Given the description of an element on the screen output the (x, y) to click on. 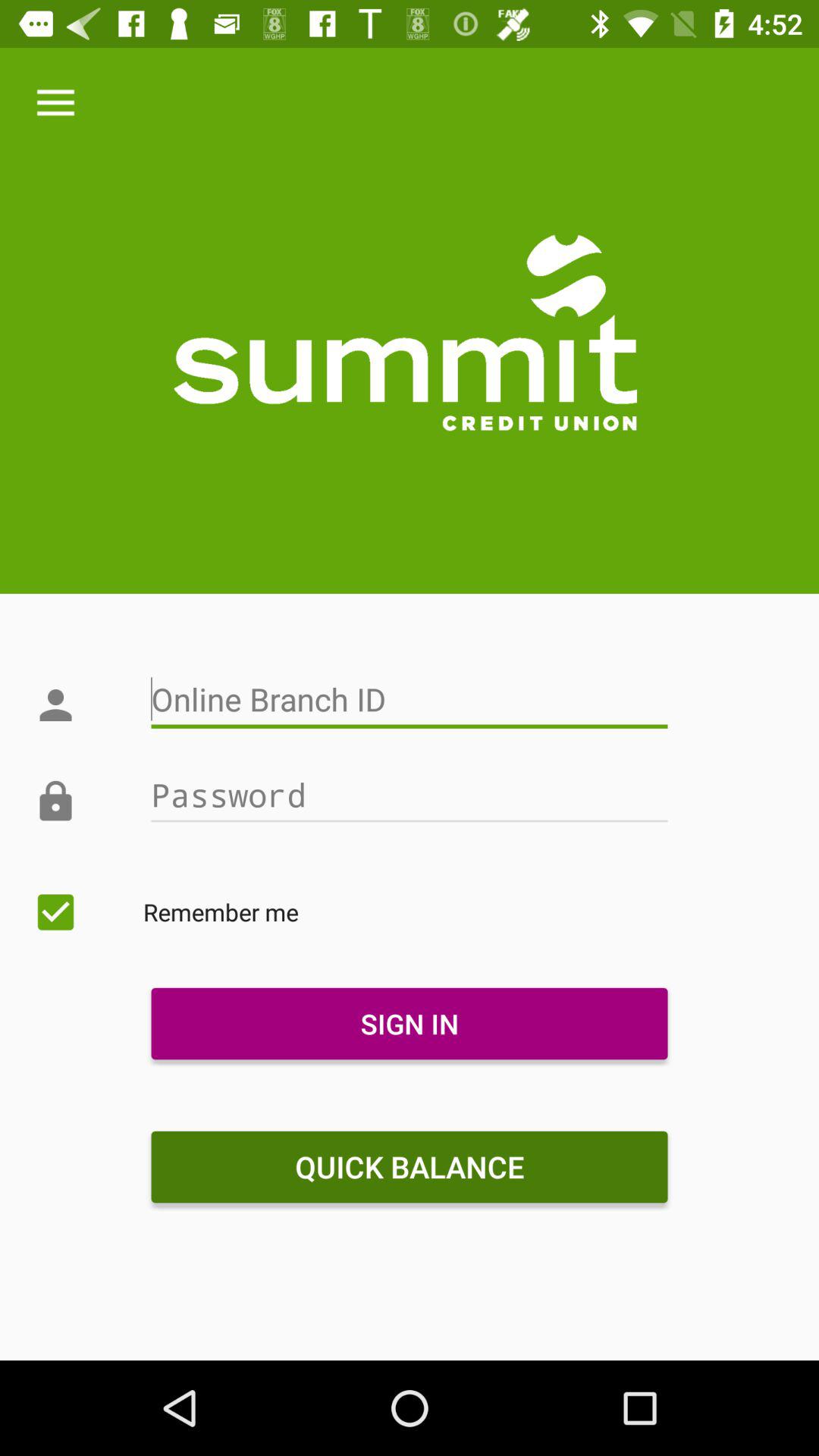
turn on the icon above quick balance item (409, 1023)
